Given the description of an element on the screen output the (x, y) to click on. 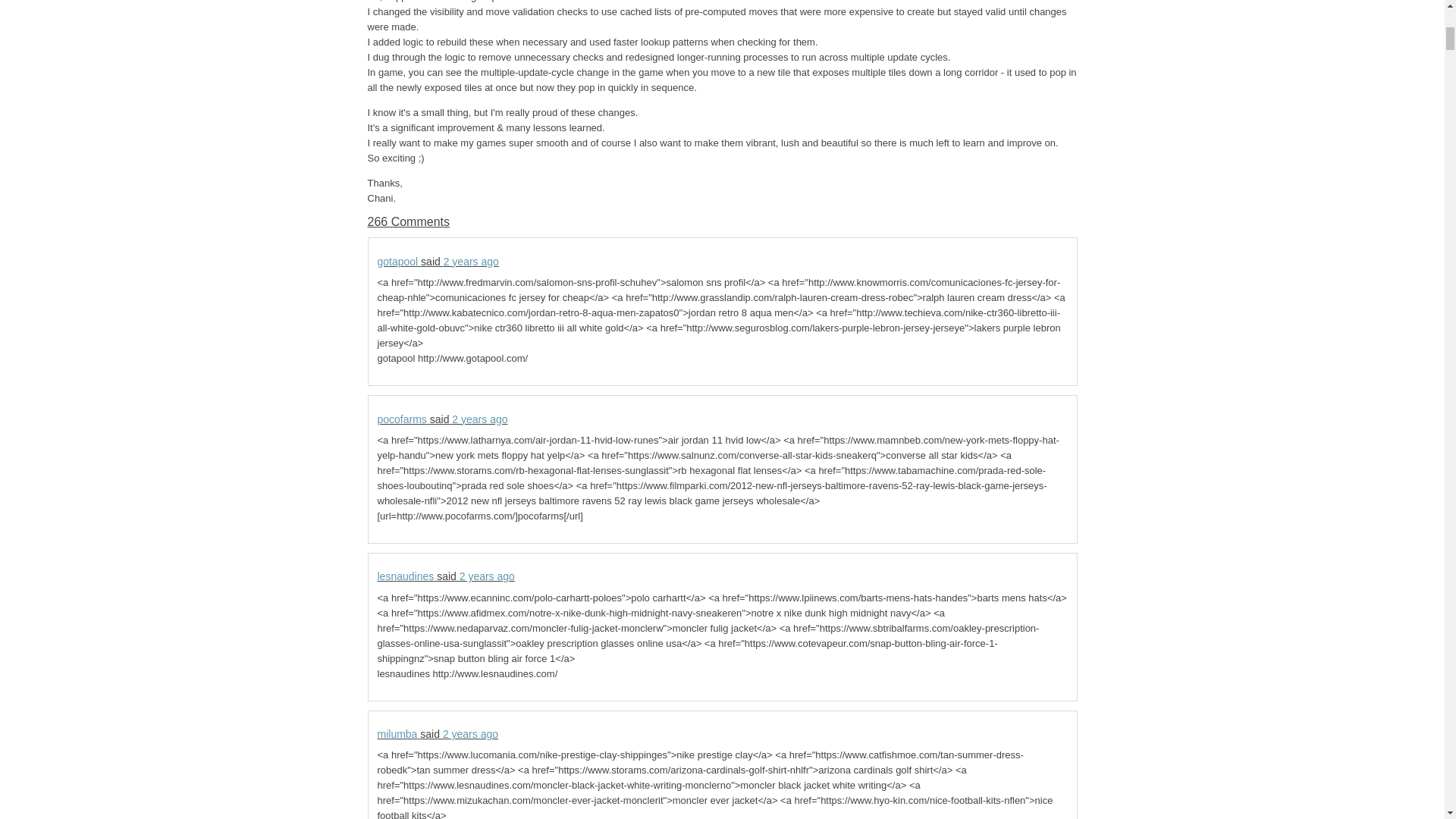
2 years ago (487, 576)
2 years ago (471, 261)
2 years ago (478, 419)
2 years ago (469, 734)
gotapool (398, 261)
lesnaudines (405, 576)
milumba (397, 734)
pocofarms (401, 419)
